Given the description of an element on the screen output the (x, y) to click on. 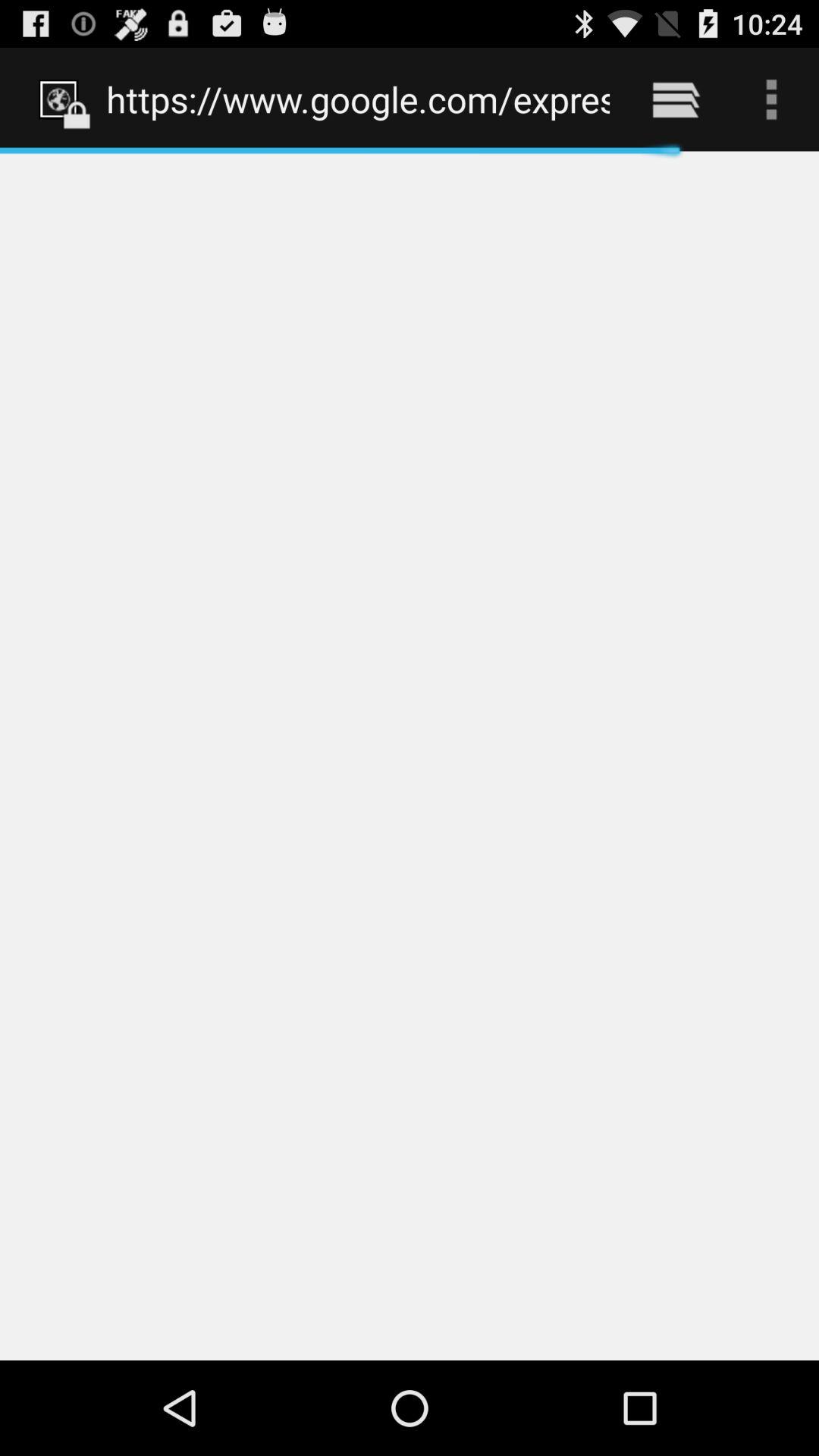
launch the item to the right of the https www google icon (675, 99)
